Given the description of an element on the screen output the (x, y) to click on. 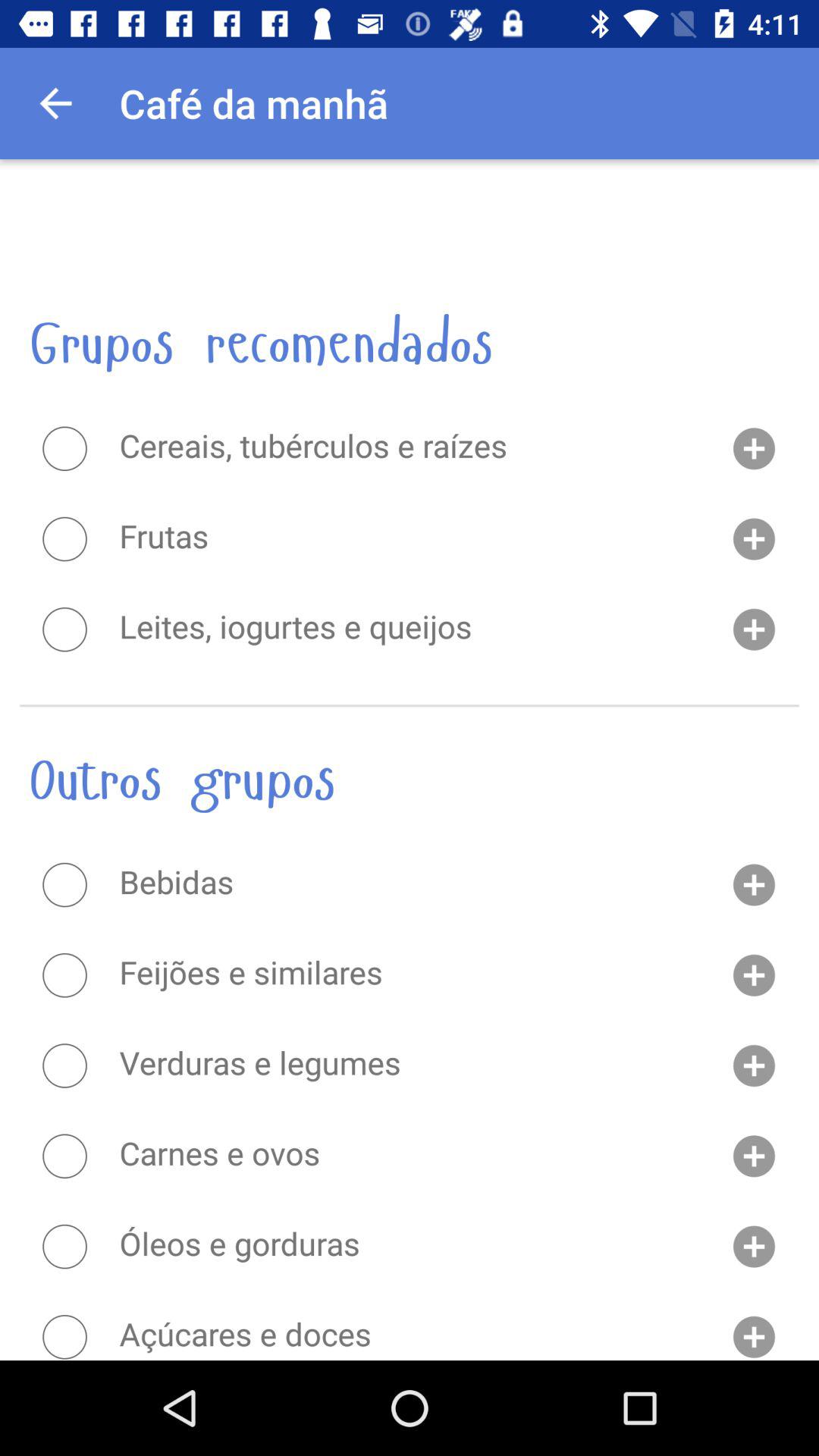
radio button to choose given option (64, 629)
